Given the description of an element on the screen output the (x, y) to click on. 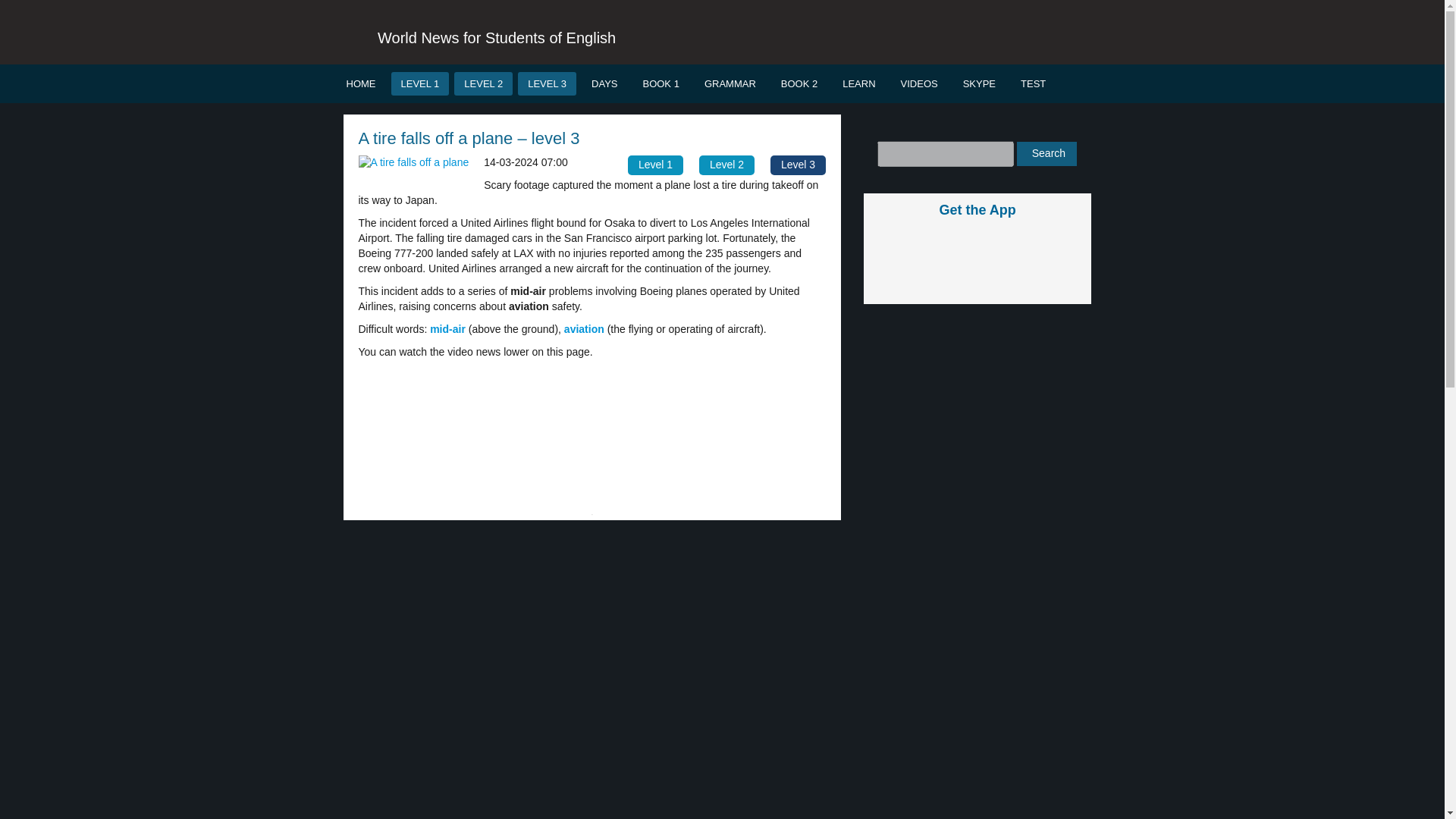
LEVEL 2 (483, 83)
GRAMMAR (729, 83)
BOOK 1 (659, 83)
LEVEL 3 (547, 83)
Level 1 (654, 165)
HOME (360, 83)
LEVEL 1 (420, 83)
DAYS (603, 83)
LEARN (858, 83)
SKYPE (979, 83)
VIDEOS (919, 83)
BOOK 2 (799, 83)
TEST (1032, 83)
Search (1046, 153)
